Given the description of an element on the screen output the (x, y) to click on. 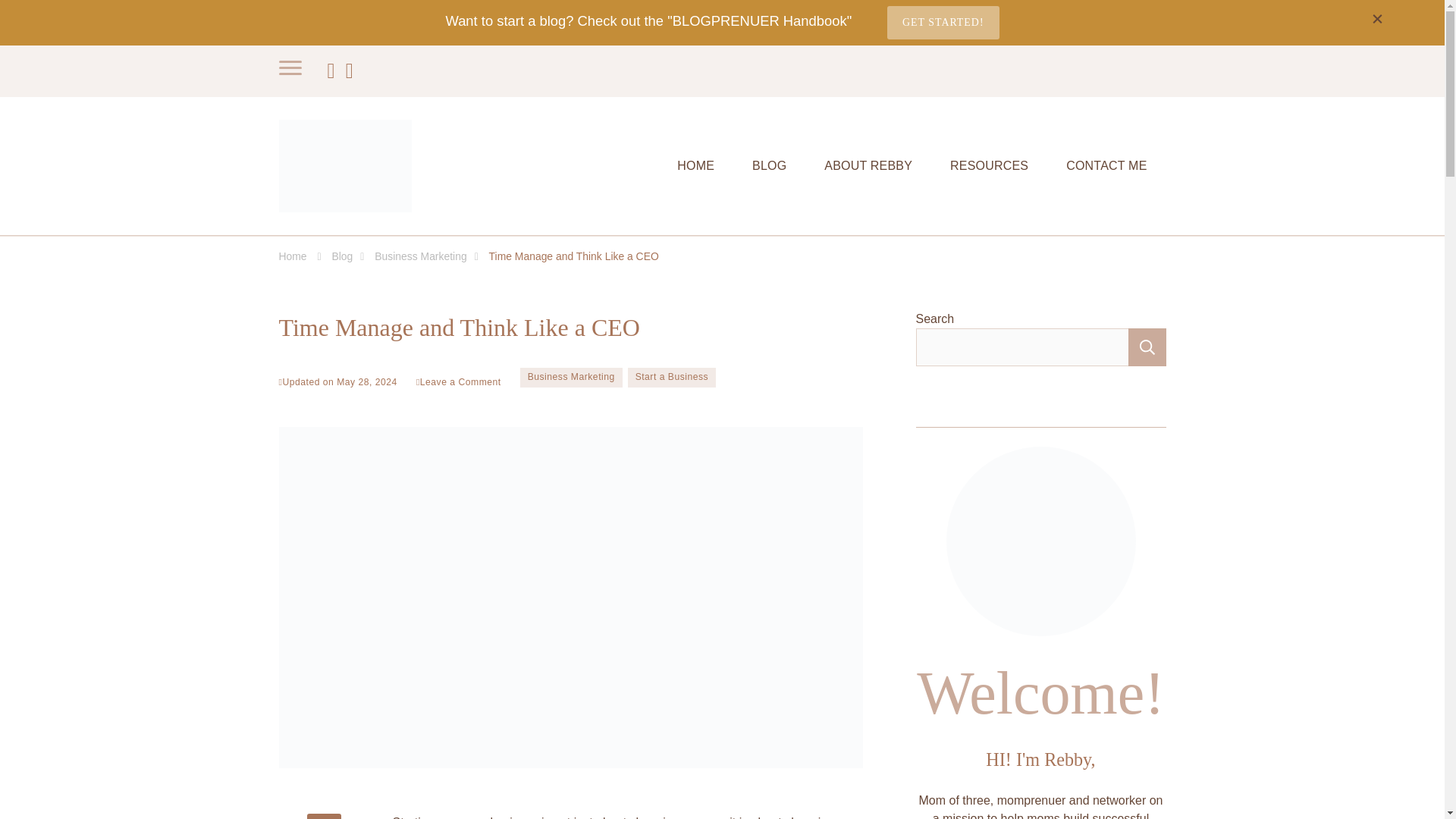
ABOUT REBBY (868, 165)
BLOG (769, 165)
CONTACT ME (1106, 165)
GET STARTED! (942, 22)
HOME (695, 165)
RESOURCES (988, 165)
